Given the description of an element on the screen output the (x, y) to click on. 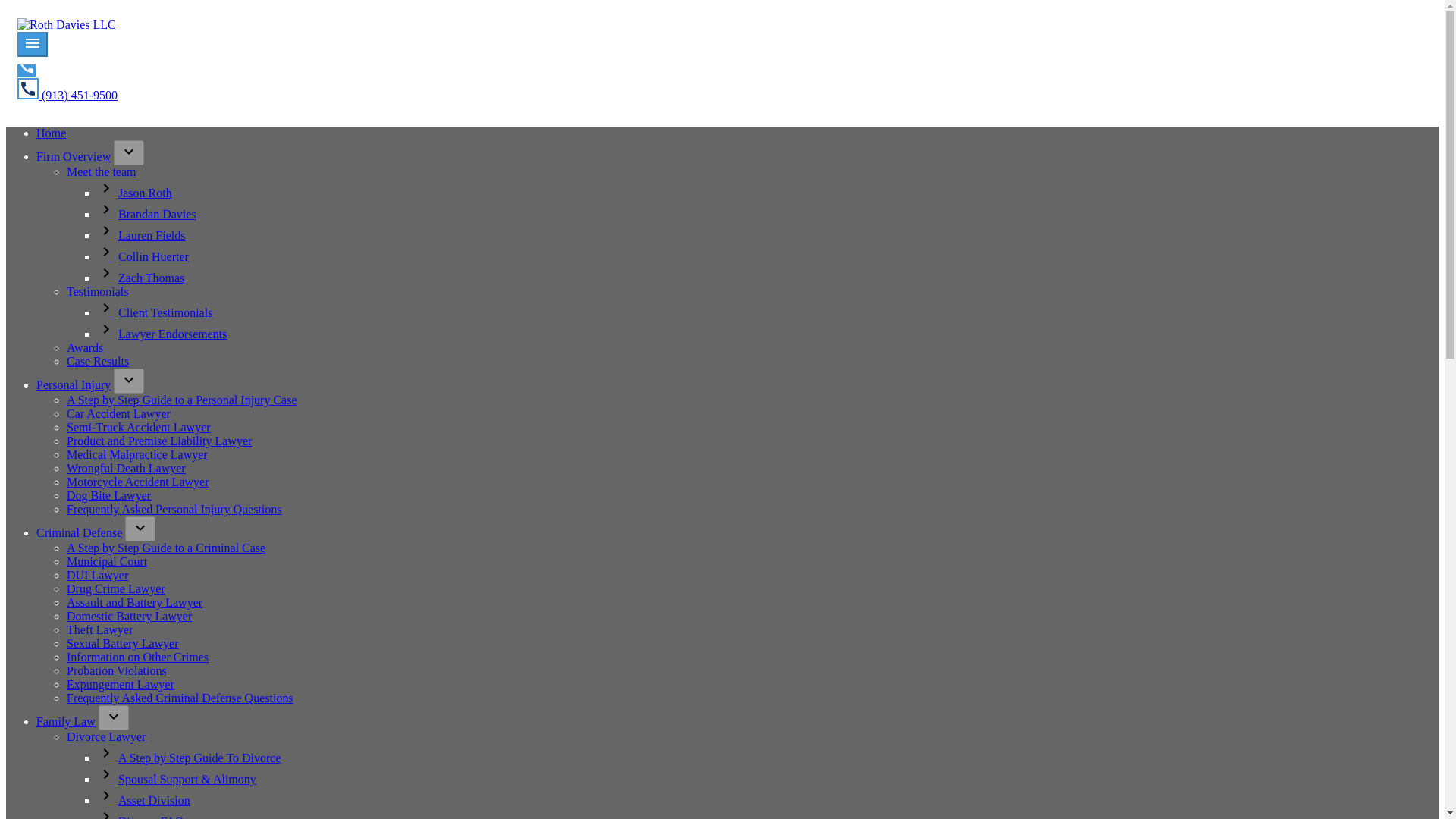
Wrongful Death Lawyer (126, 468)
Municipal Court (106, 561)
Personal Injury (73, 384)
A Step by Step Guide to a Personal Injury Case (181, 399)
Theft Lawyer (99, 629)
Dog Bite Lawyer (108, 495)
Case Results (97, 360)
Sexual Battery Lawyer (122, 643)
Collin Huerter (153, 256)
Brandan Davies (156, 214)
Product and Premise Liability Lawyer (158, 440)
A Step by Step Guide to a Criminal Case (165, 547)
Client Testimonials (164, 312)
Meet the team (101, 171)
Firm Overview (73, 155)
